Given the description of an element on the screen output the (x, y) to click on. 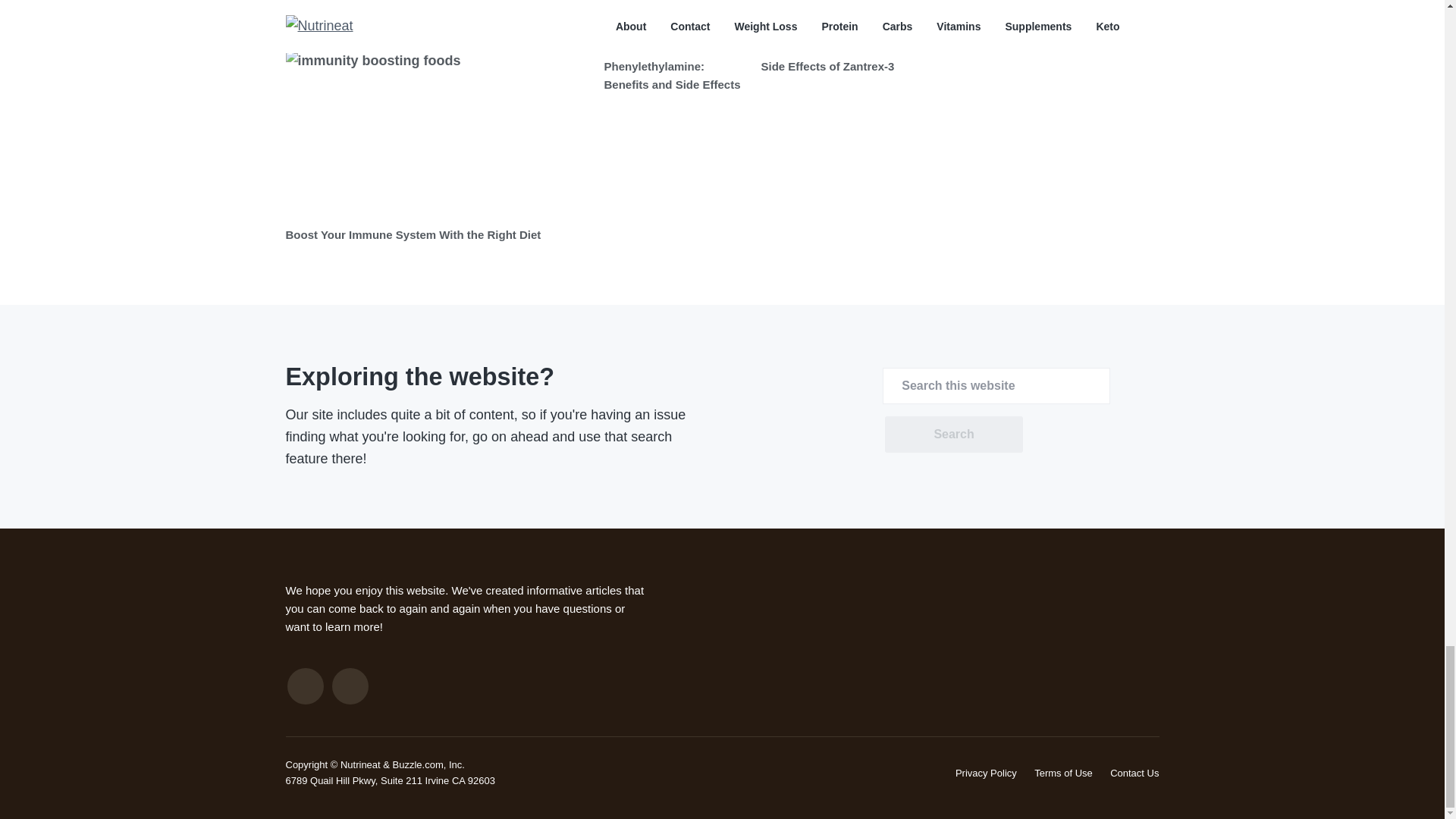
Search (953, 434)
Search (953, 434)
Side Effects of Zantrex-3 (828, 65)
Phenylethylamine: Benefits and Side Effects (671, 74)
Permanent Link to Side Effects of Zantrex-3 (828, 65)
Boost Your Immune System With the Right Diet (412, 234)
